Given the description of an element on the screen output the (x, y) to click on. 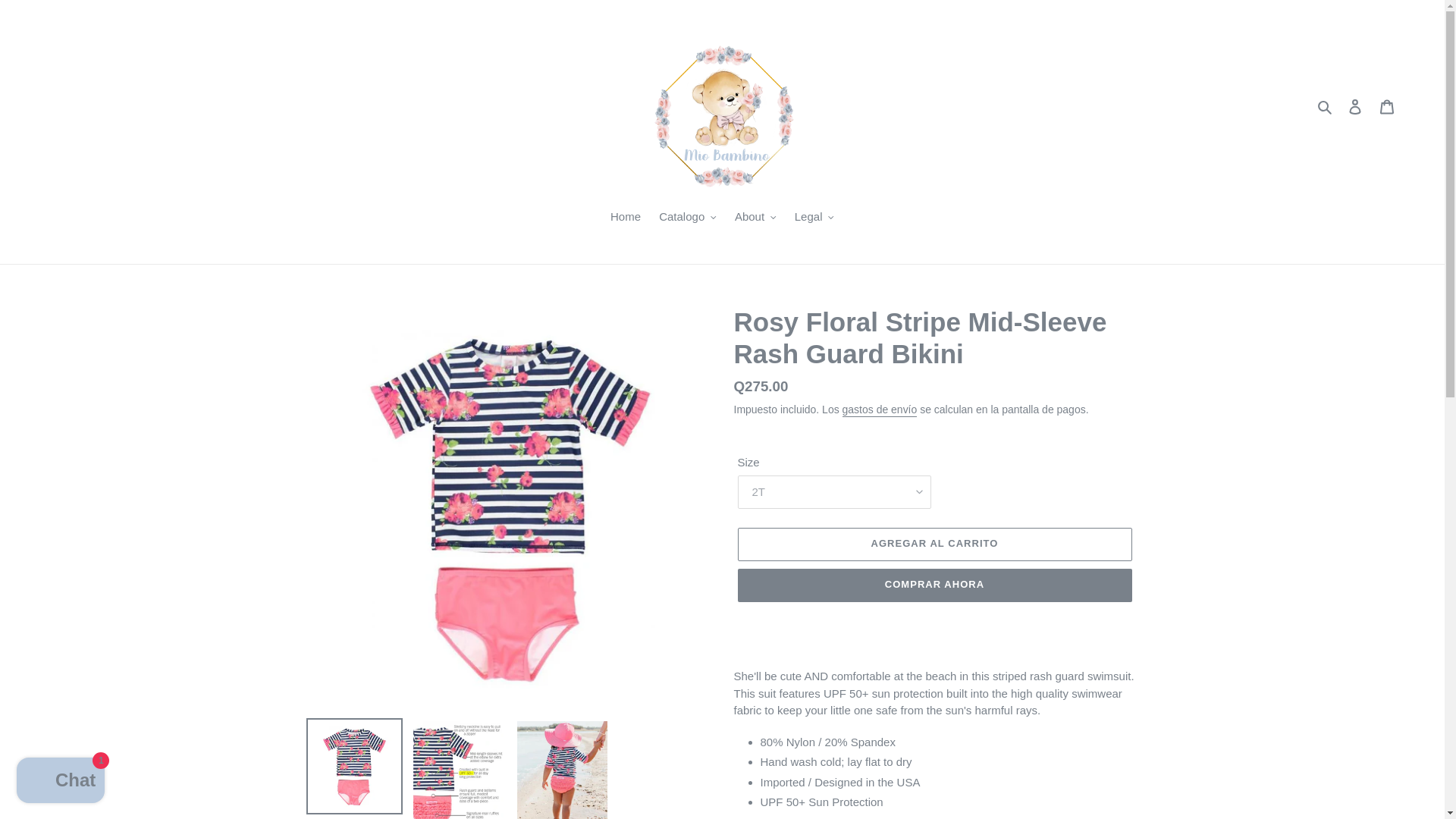
Catalogo (686, 218)
Ingresar (1355, 106)
Home (624, 218)
Buscar (1326, 106)
Chat de la tienda online Shopify (60, 781)
Carrito (1387, 106)
